Given the description of an element on the screen output the (x, y) to click on. 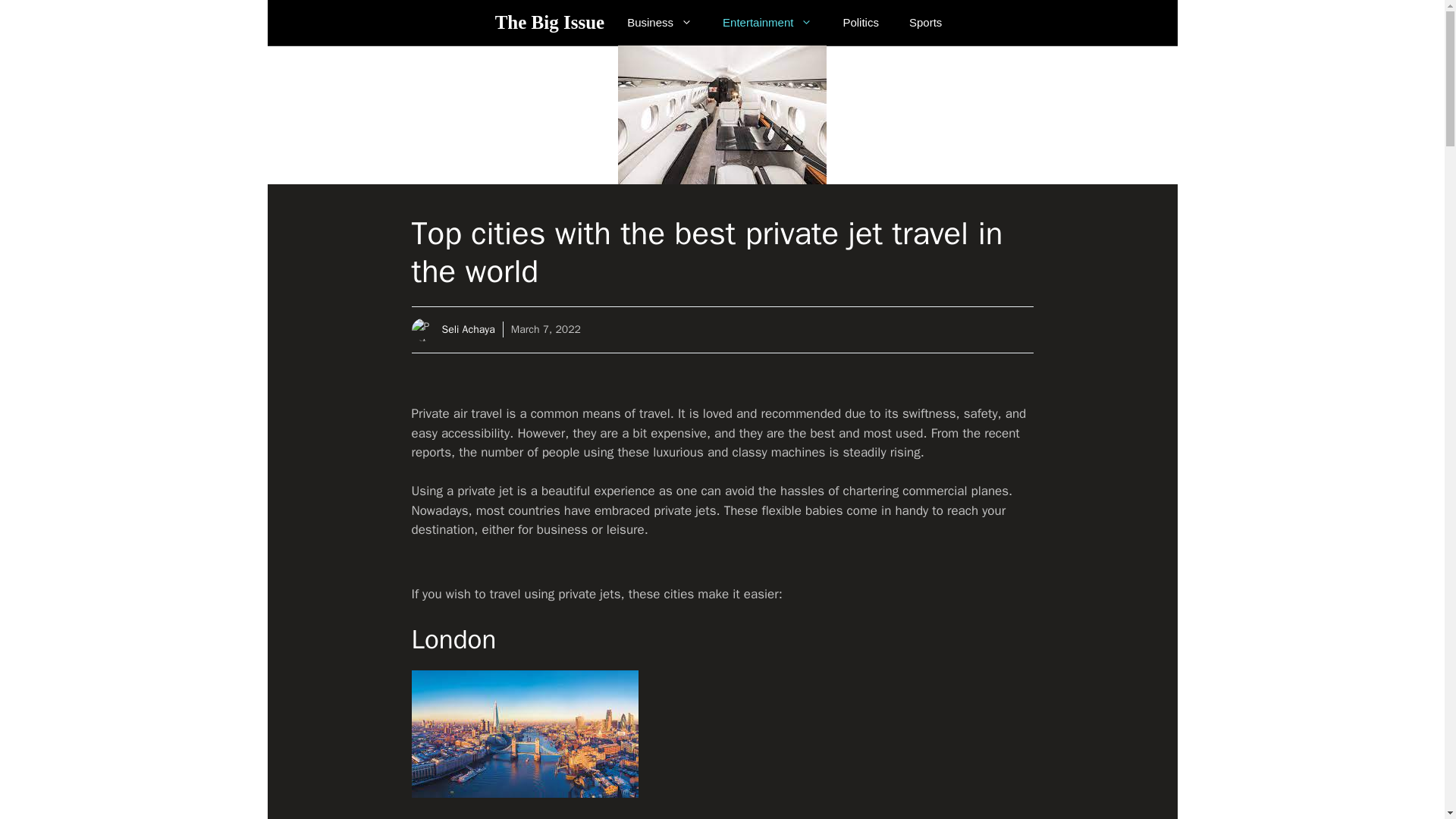
Business (659, 22)
The Big Issue (549, 22)
Entertainment (767, 22)
Sports (924, 22)
Politics (860, 22)
Seli Achaya (468, 328)
